Given the description of an element on the screen output the (x, y) to click on. 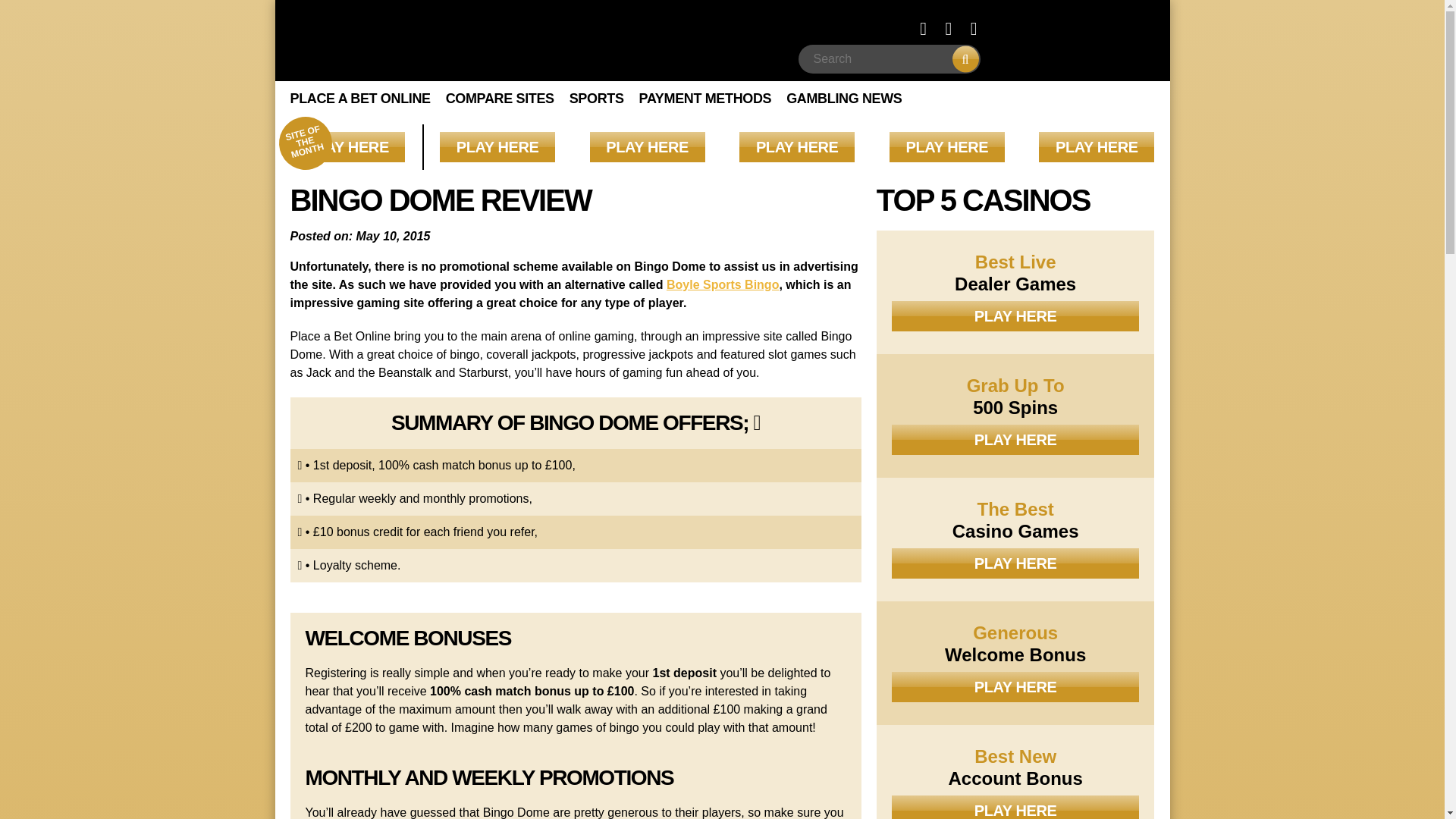
PLAY HERE (946, 146)
GAMBLING NEWS (843, 98)
PLAY HERE (646, 146)
PLAY HERE (1096, 146)
PLACE A BET ONLINE (359, 98)
PLAY HERE (496, 146)
PLAY HERE (796, 146)
PLAY HERE (346, 146)
Boyle Sports Bingo (722, 284)
COMPARE SITES (499, 98)
